Given the description of an element on the screen output the (x, y) to click on. 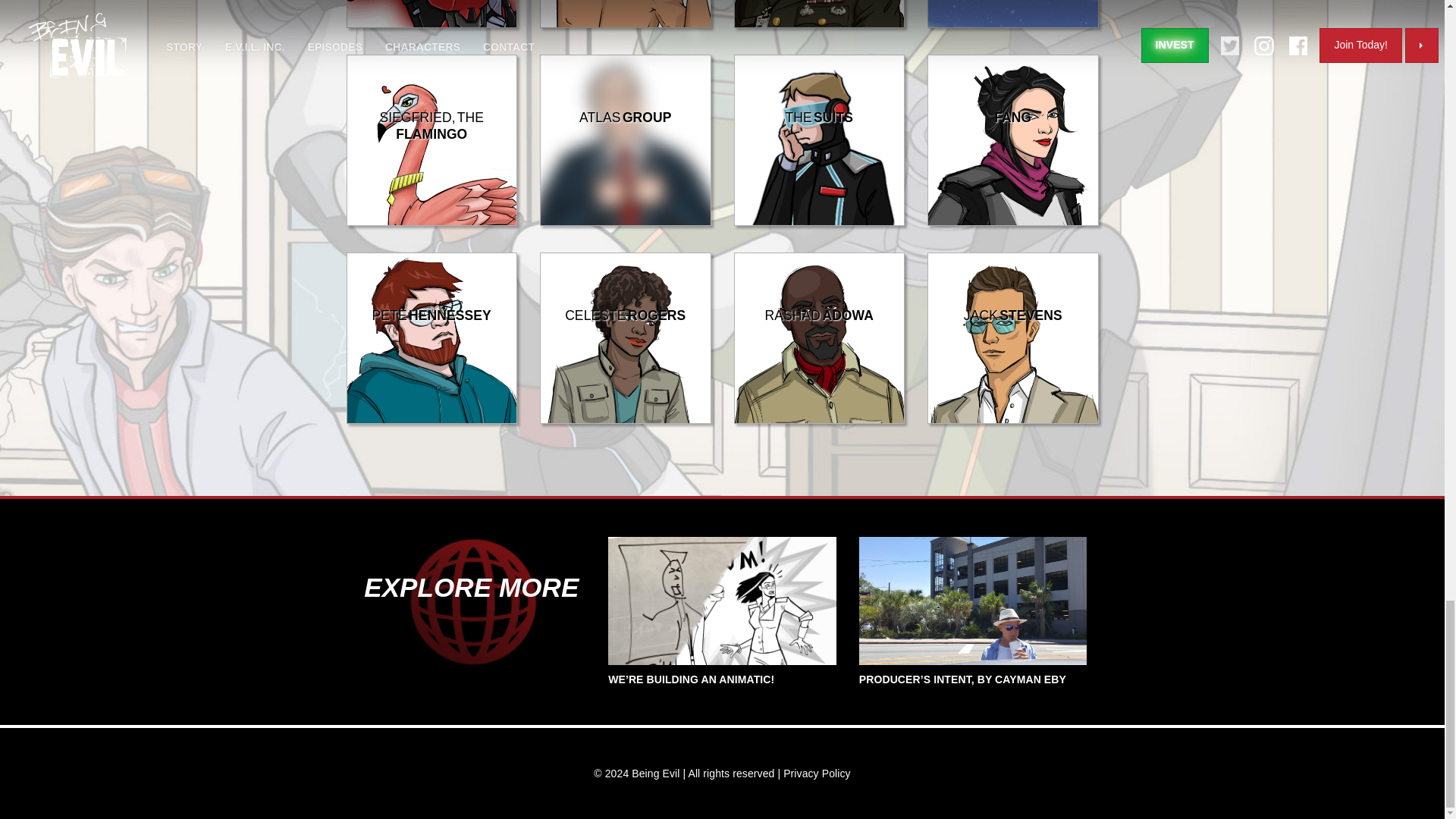
PETE HENNESSEY (431, 419)
ATLAS GROUP (625, 222)
GOD THE ALMIGHTY (1013, 24)
EXPLORE MORE (471, 586)
GENERAL KEITH NEESON (819, 24)
FANG (1013, 222)
Privacy Policy (816, 773)
THE SUITS (819, 222)
JACK STEVENS (1013, 419)
SIEGFRIED, THE FLAMINGO (431, 222)
